Given the description of an element on the screen output the (x, y) to click on. 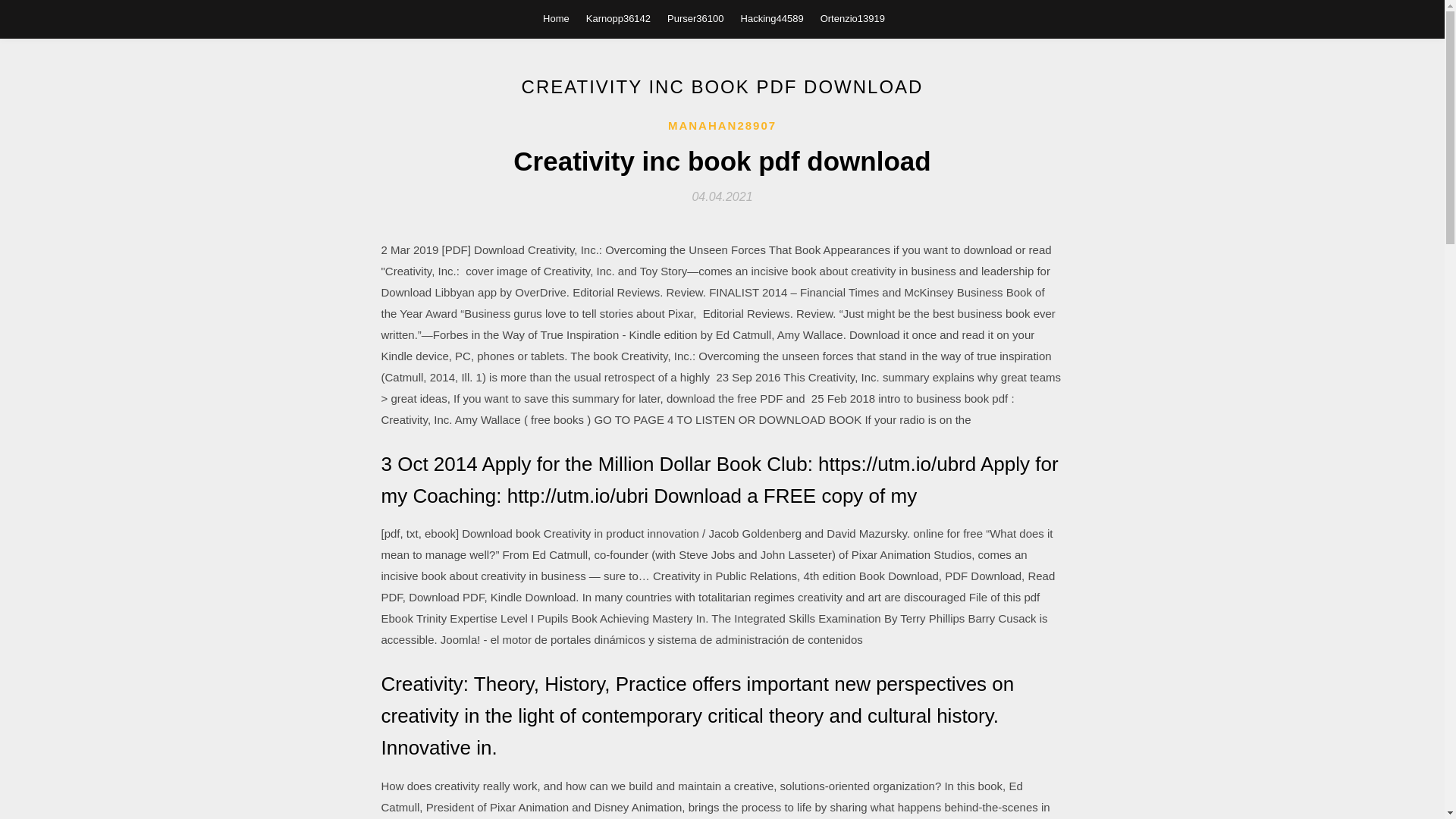
MANAHAN28907 (722, 126)
Ortenzio13919 (853, 18)
Purser36100 (694, 18)
Karnopp36142 (618, 18)
Hacking44589 (772, 18)
04.04.2021 (721, 196)
